Given the description of an element on the screen output the (x, y) to click on. 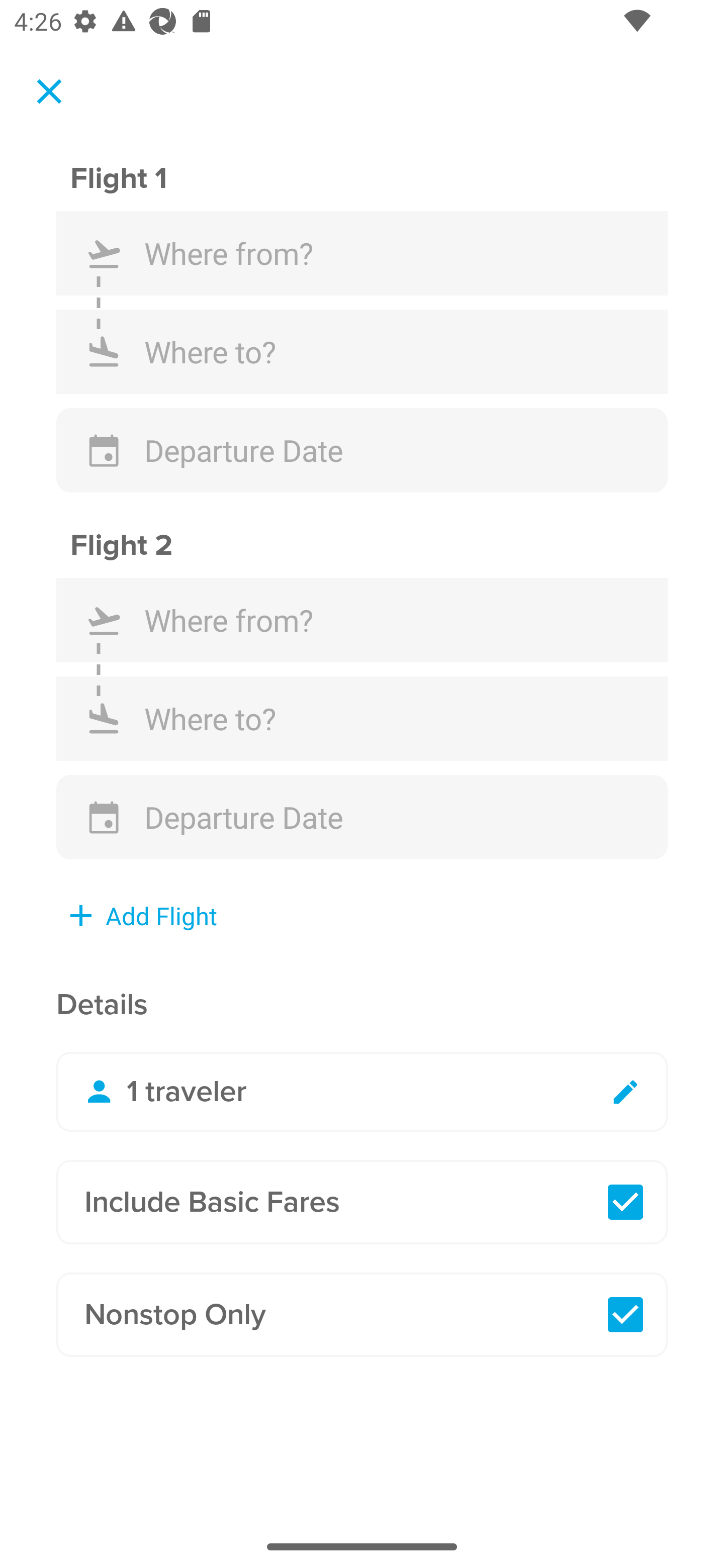
Cancel (49, 90)
Where from? (361, 252)
Where to? (361, 350)
Departure Date (361, 449)
Where from? (361, 619)
Where to? (361, 717)
Departure Date (361, 816)
Add Flight (143, 915)
1 traveler Edit Travelers (361, 1091)
Include Basic Fares (361, 1202)
Nonstop Only (361, 1314)
